Given the description of an element on the screen output the (x, y) to click on. 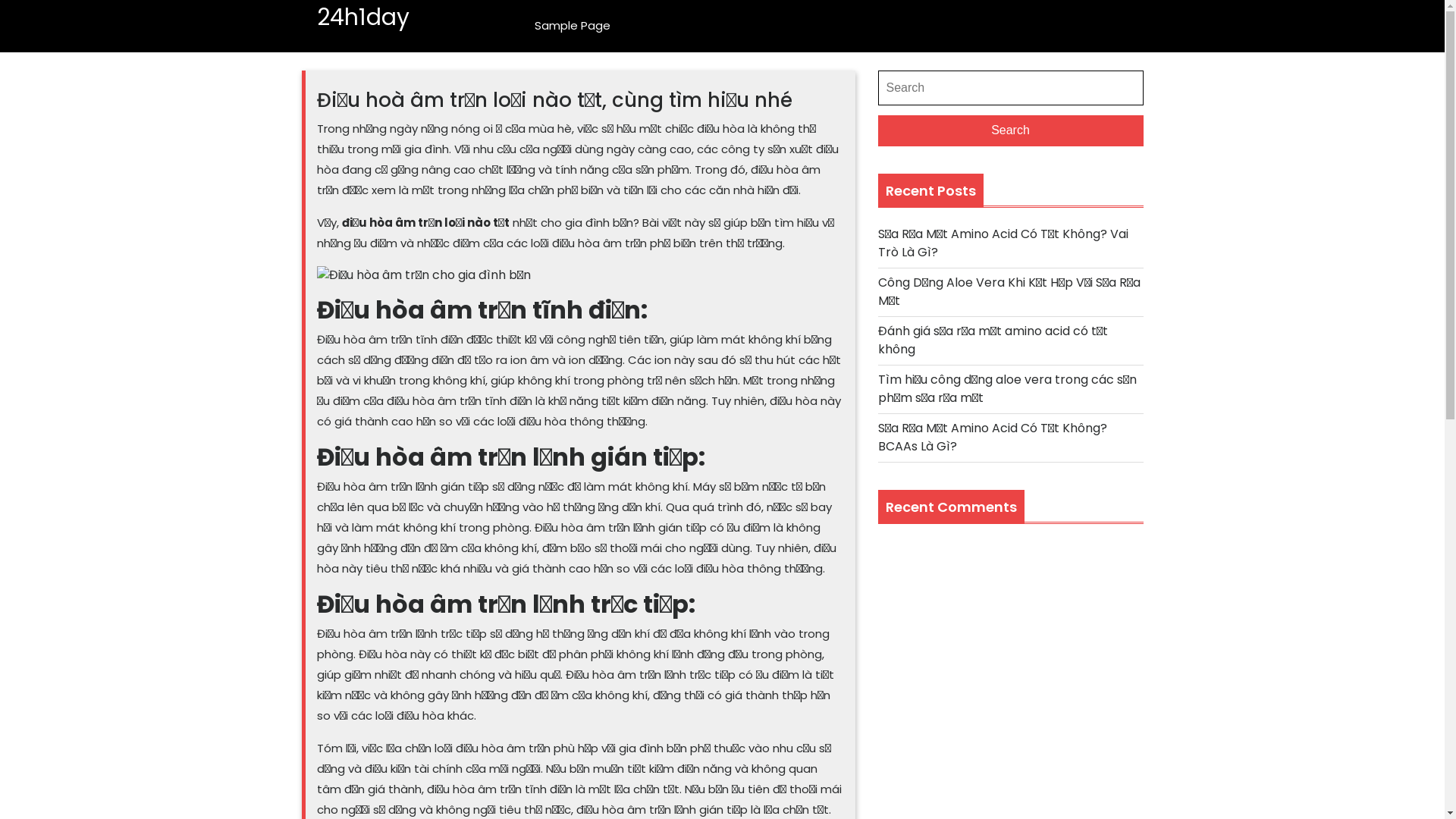
Search Element type: text (1010, 131)
Sample Page Element type: text (572, 26)
24h1day Element type: text (362, 17)
